Given the description of an element on the screen output the (x, y) to click on. 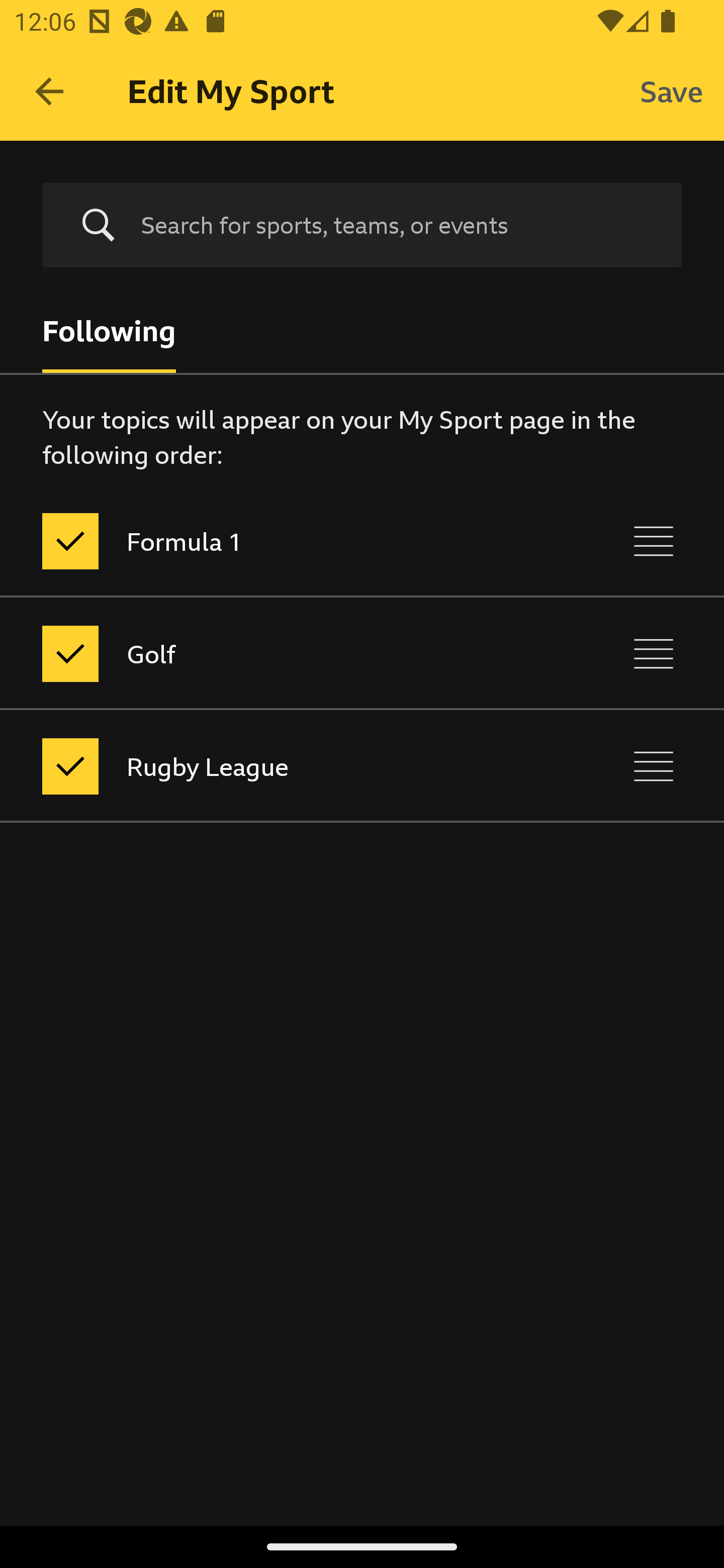
Navigate up (49, 91)
Save (671, 90)
Search for sports, teams, or events (361, 225)
Search for sports, teams, or events (396, 224)
Formula 1 (277, 540)
Reorder Formula 1 (653, 540)
Golf (277, 653)
Reorder Golf (653, 653)
Rugby League (277, 766)
Reorder Rugby League (653, 766)
